Given the description of an element on the screen output the (x, y) to click on. 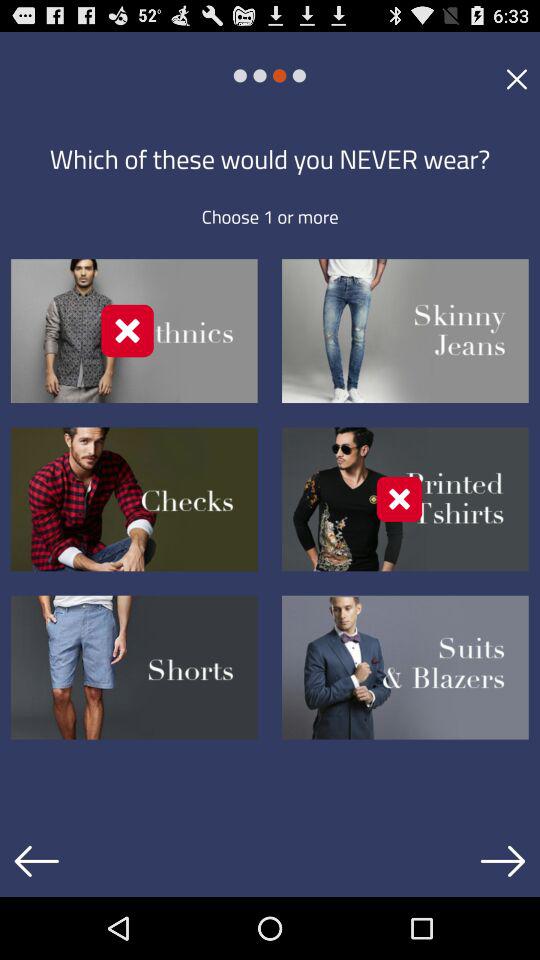
close advertisement (516, 78)
